Given the description of an element on the screen output the (x, y) to click on. 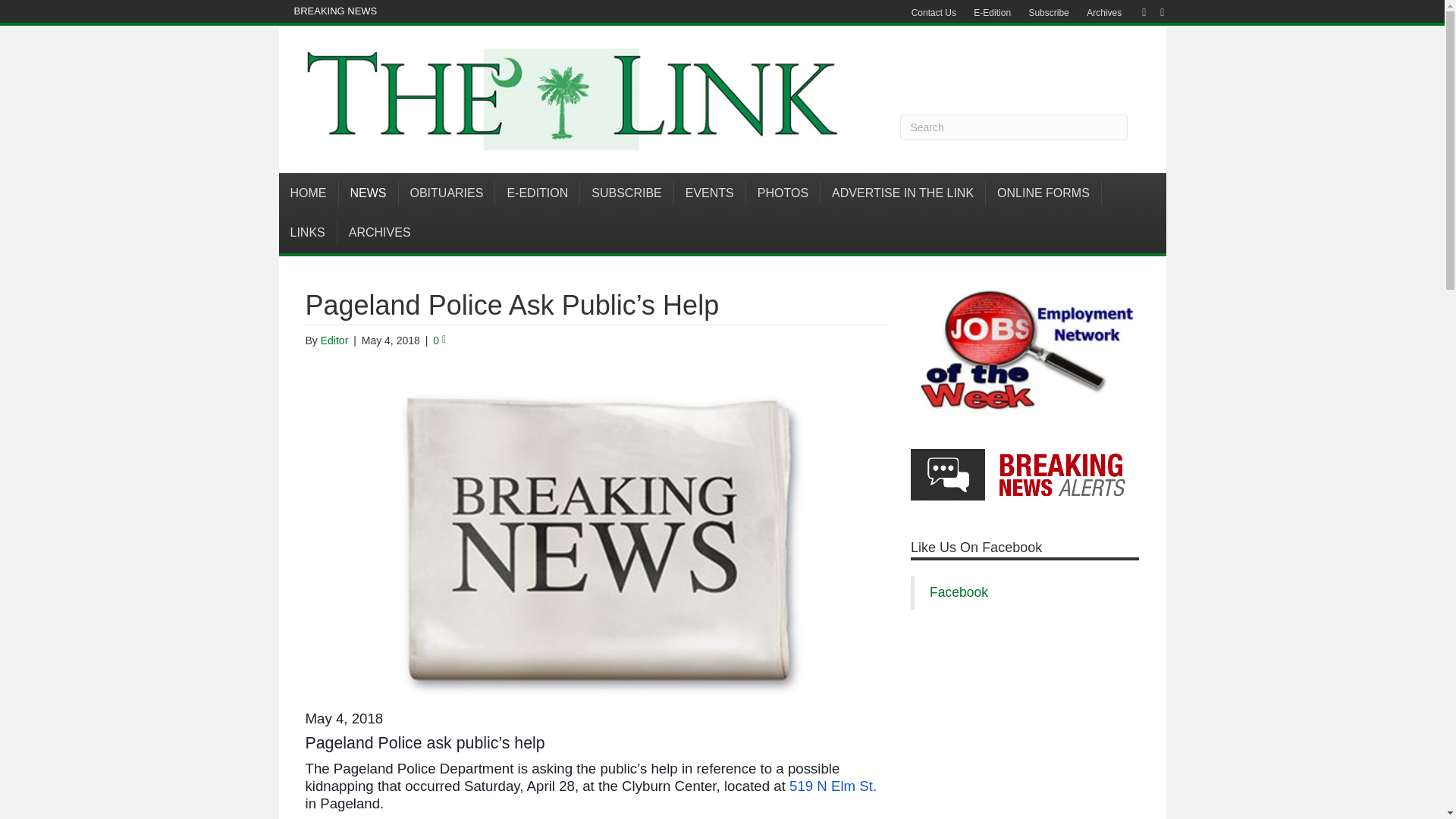
OBITUARIES (447, 192)
PHOTOS (783, 192)
NEWS (367, 192)
HOME (309, 192)
ONLINE FORMS (1043, 192)
Facebook (1135, 11)
Contact Us (933, 13)
SUBSCRIBE (625, 192)
Subscribe (1047, 13)
Archives (1103, 13)
E-EDITION (537, 192)
Email (1154, 11)
EVENTS (709, 192)
ADVERTISE IN THE LINK (903, 192)
Type and press Enter to search. (1012, 127)
